Given the description of an element on the screen output the (x, y) to click on. 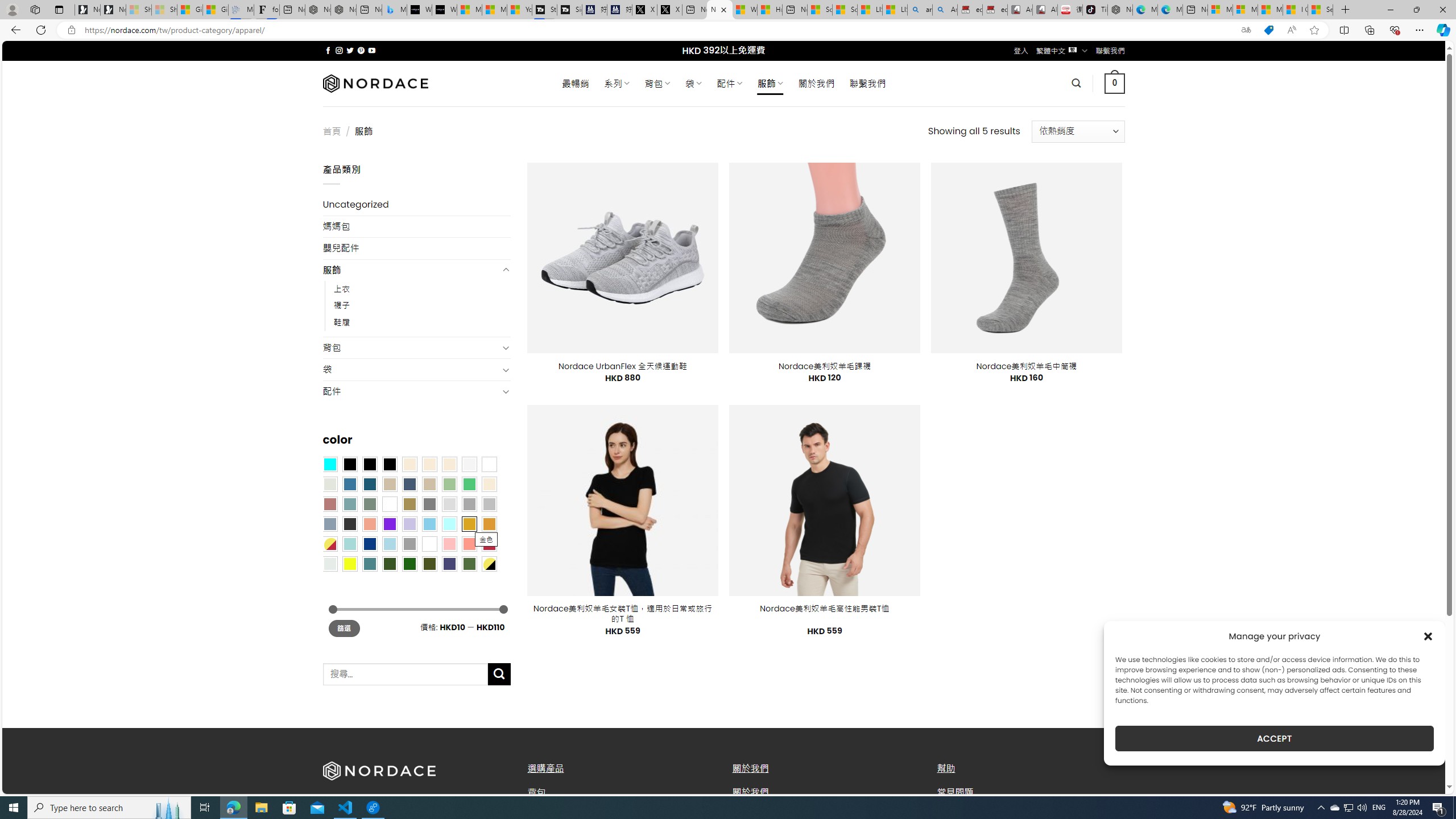
Uncategorized (416, 204)
Go to top (1421, 777)
